Given the description of an element on the screen output the (x, y) to click on. 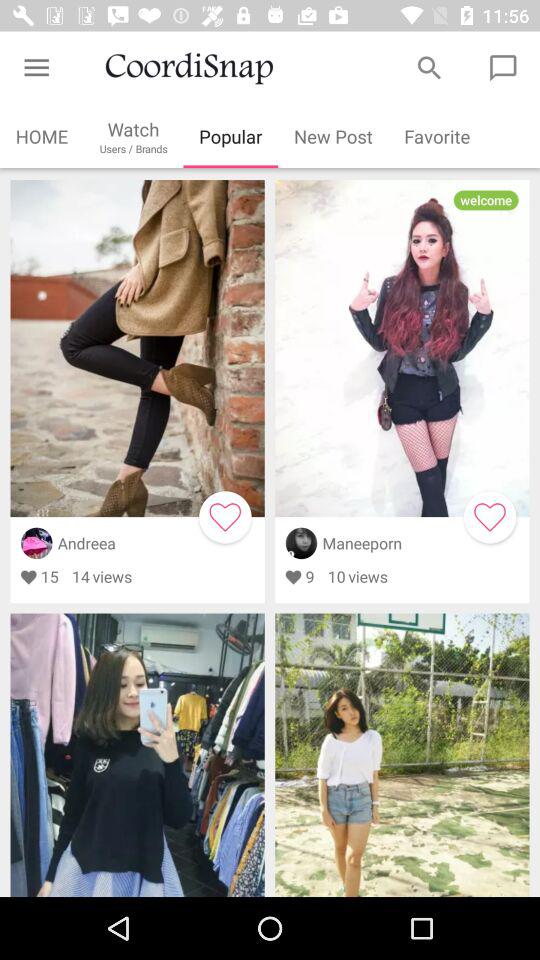
turn off the item above favorite item (429, 67)
